Given the description of an element on the screen output the (x, y) to click on. 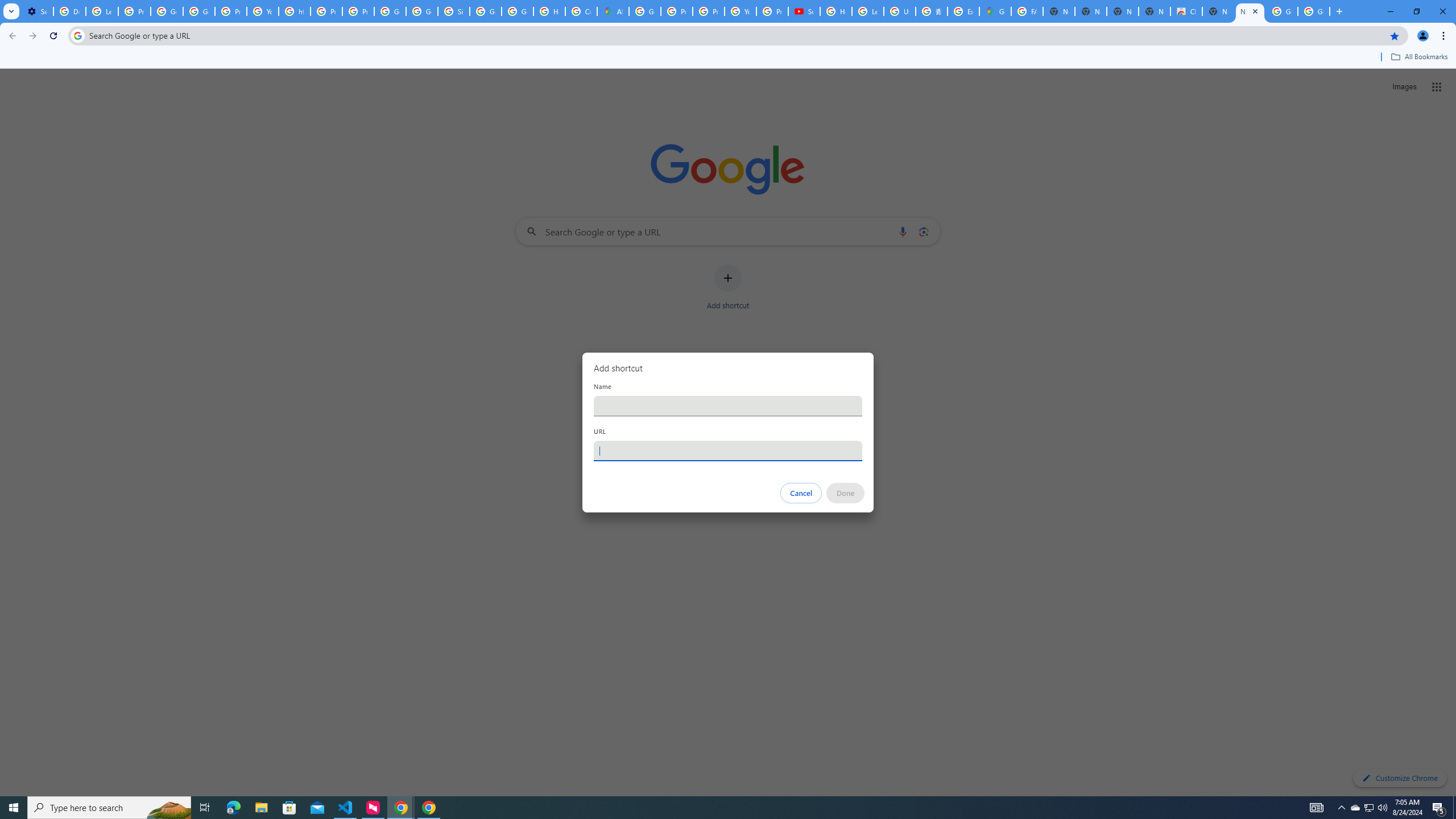
Explore new street-level details - Google Maps Help (963, 11)
All Bookmarks (1418, 56)
Cancel (801, 493)
URL (727, 450)
Privacy Help Center - Policies Help (676, 11)
Subscriptions - YouTube (804, 11)
New Tab (1249, 11)
Google Maps (995, 11)
